Given the description of an element on the screen output the (x, y) to click on. 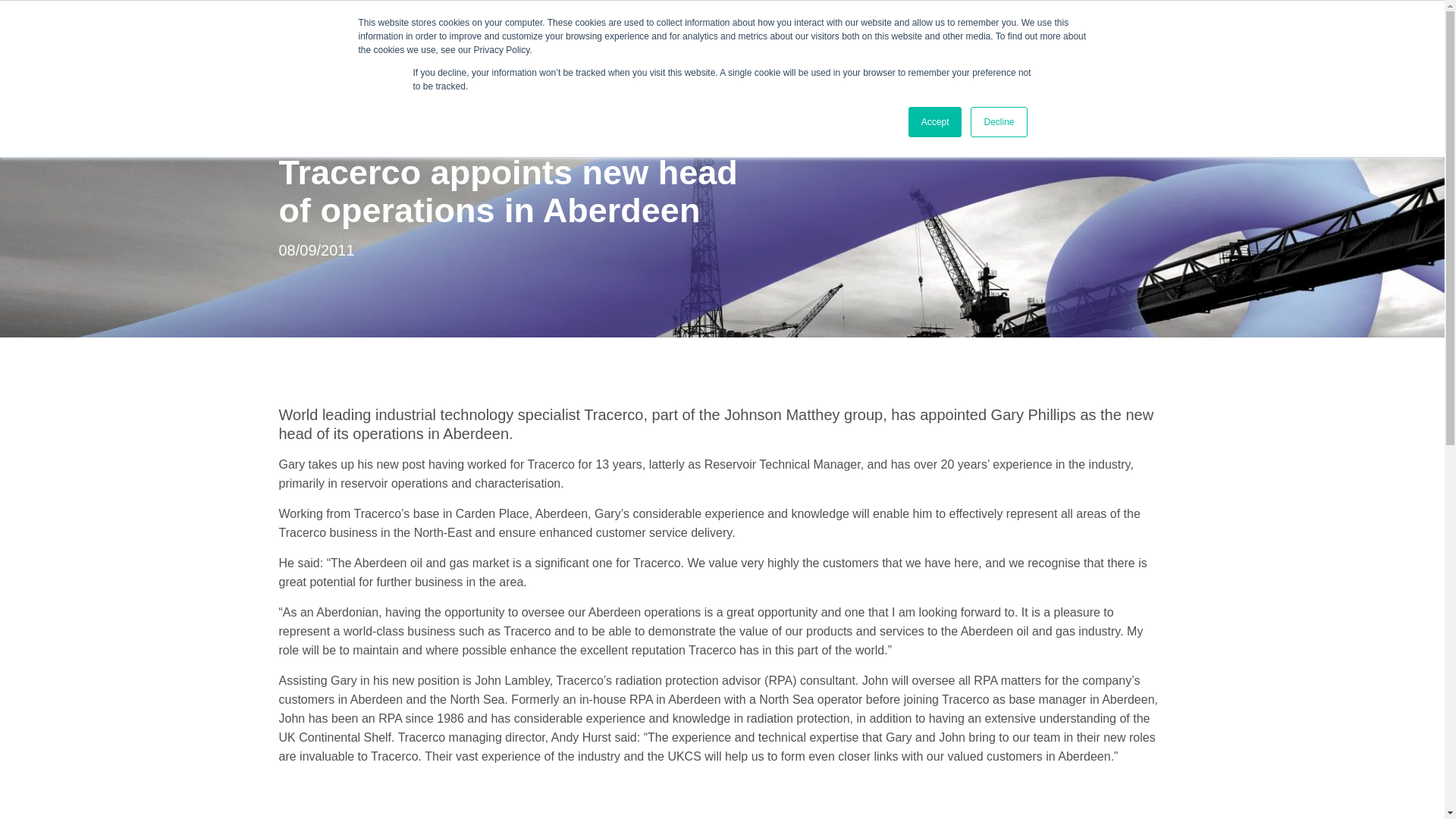
Why Tracerco? (327, 37)
What we offer (486, 37)
Downloads (1166, 38)
Who we serve (644, 37)
Careers (953, 37)
Challenge Us (1257, 37)
Accept (935, 122)
Decline (998, 122)
Enquire Now (1370, 37)
Connect with us (806, 37)
